Given the description of an element on the screen output the (x, y) to click on. 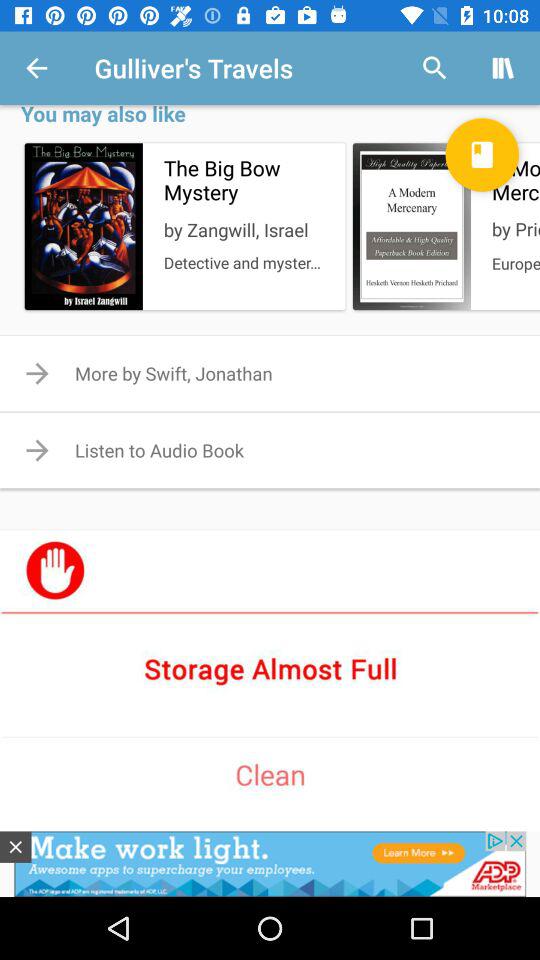
go to advertisement (270, 864)
